Given the description of an element on the screen output the (x, y) to click on. 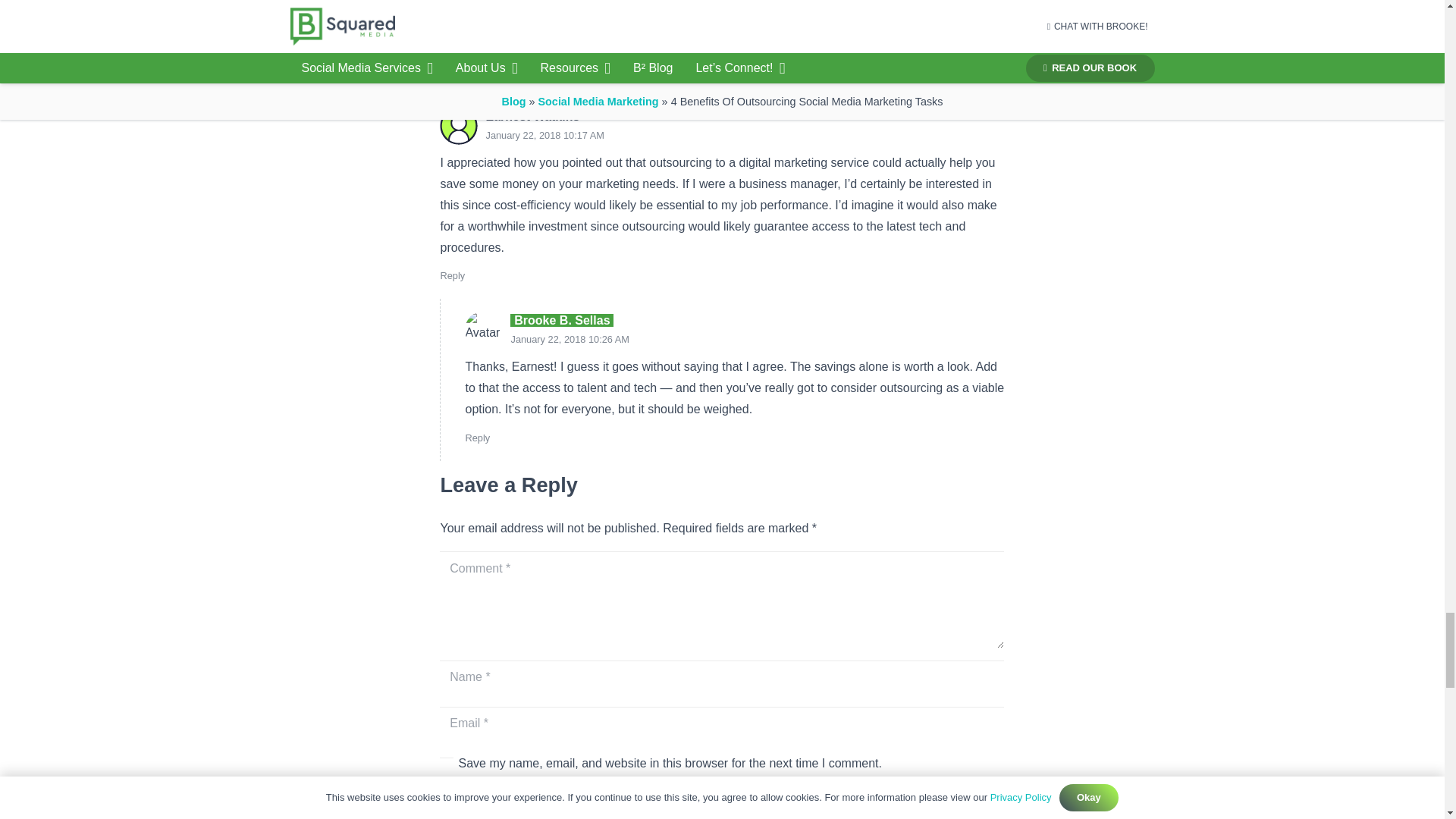
January 22, 2018 10:17 AM (544, 134)
1 (445, 764)
January 22, 2018 10:26 AM (569, 338)
January 2, 2018 10:38 AM (567, 16)
